Given the description of an element on the screen output the (x, y) to click on. 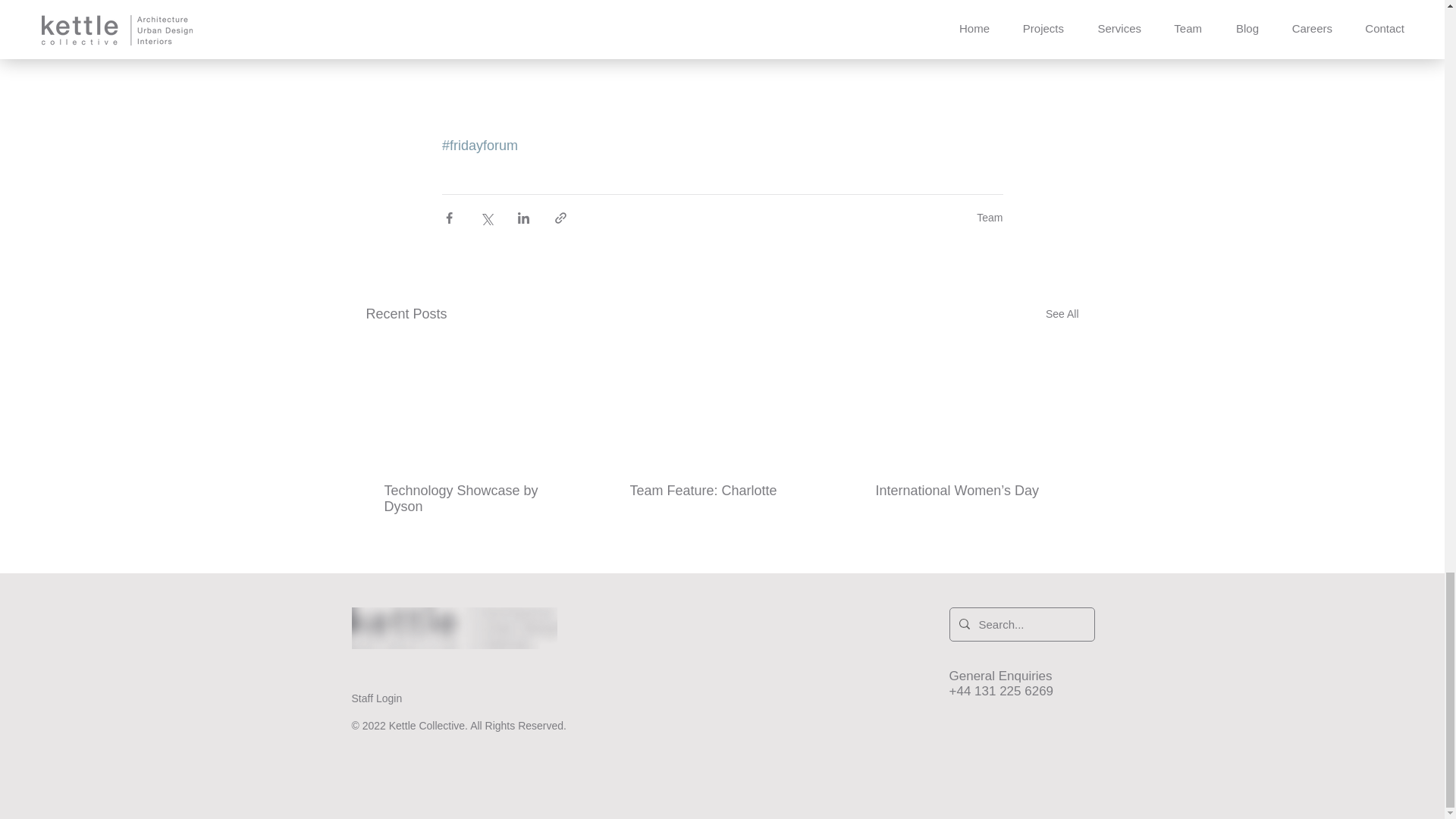
Staff Login (377, 698)
Team (989, 217)
Technology Showcase by Dyson (475, 499)
Team Feature: Charlotte (720, 490)
See All (1061, 314)
